Given the description of an element on the screen output the (x, y) to click on. 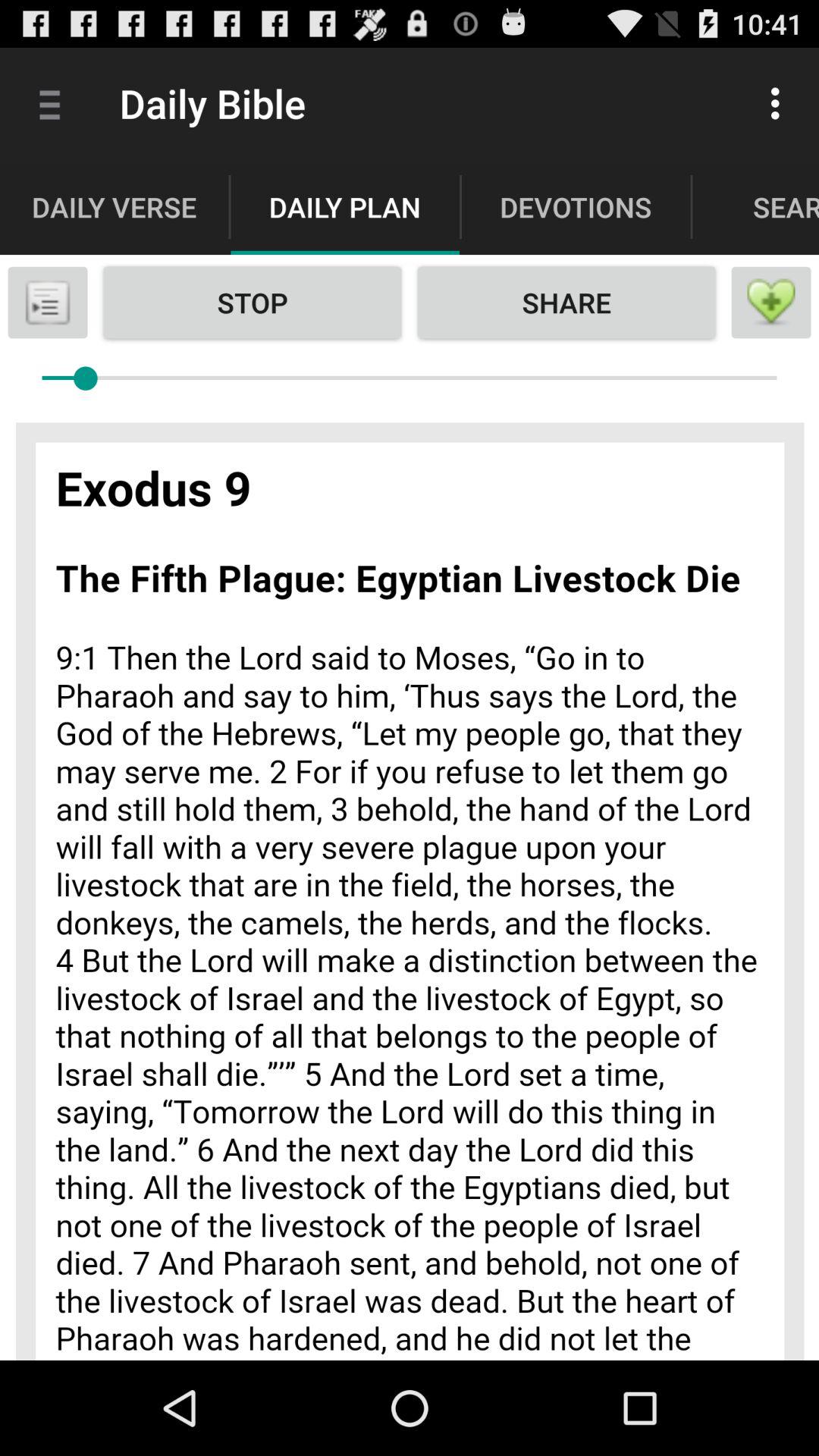
colour pinter (409, 883)
